Given the description of an element on the screen output the (x, y) to click on. 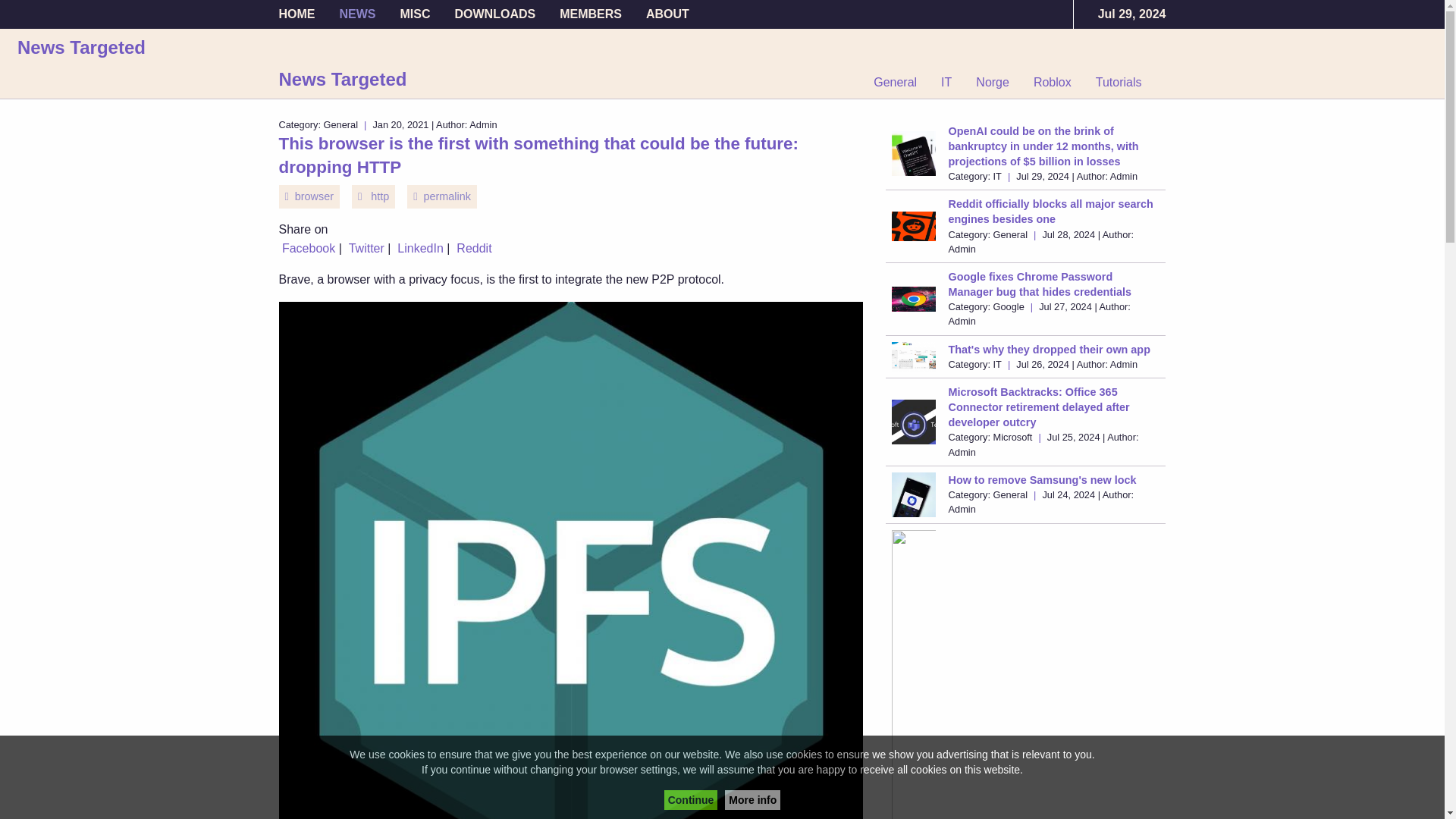
37 articles (1118, 82)
Norge (992, 82)
15 articles (992, 82)
News Targeted (343, 78)
1 articles (1052, 82)
MISC (415, 14)
More info (752, 799)
Continue (690, 799)
News Targeted (81, 46)
DOWNLOADS (495, 14)
ABOUT (660, 14)
General (900, 82)
Roblox (1052, 82)
HOME (303, 14)
IT (945, 82)
